Given the description of an element on the screen output the (x, y) to click on. 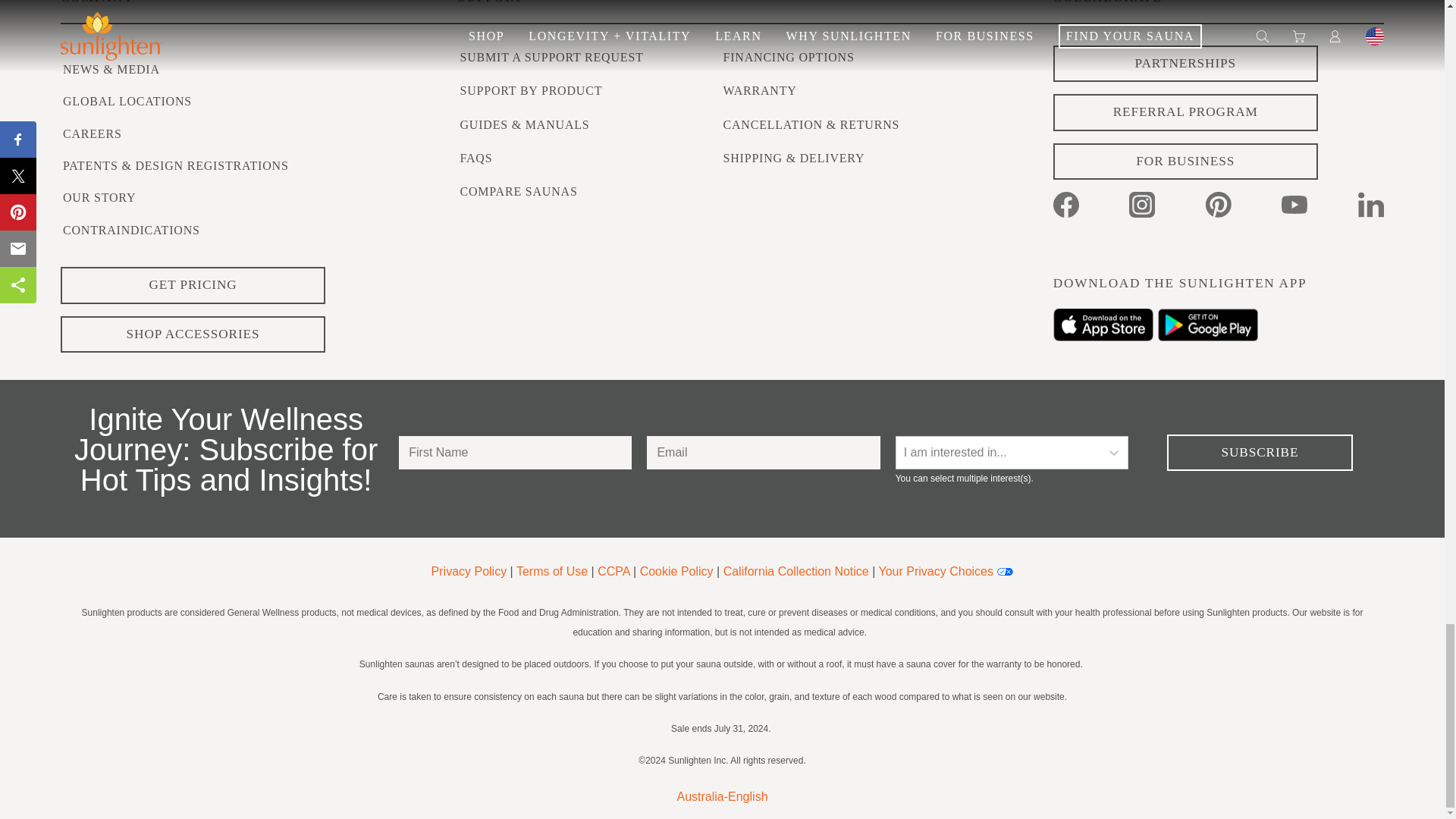
WARRANTY (759, 90)
FAQS (476, 157)
CONTRAINDICATIONS (131, 229)
Cookie Policy (676, 571)
Privacy Policy (468, 571)
Facebook (1065, 204)
GET PRICING (192, 284)
CCPA (612, 571)
OUR STORY (98, 196)
Terms of Use (552, 571)
FOR BUSINESS (1184, 161)
Instagram (1141, 204)
CAREERS (92, 133)
SUPPORT BY PRODUCT (531, 90)
SUBSCRIBE (1260, 452)
